Given the description of an element on the screen output the (x, y) to click on. 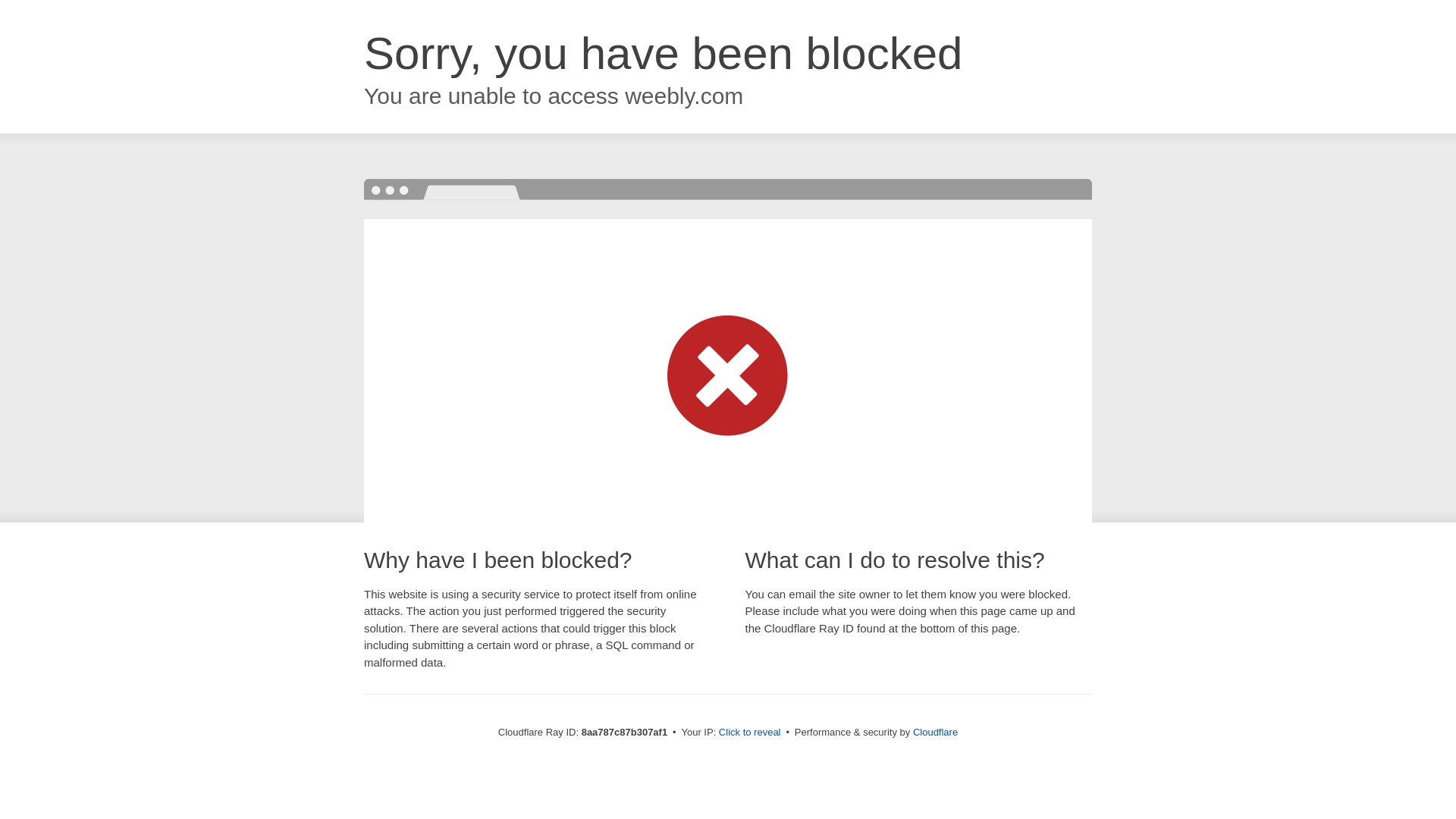
Cloudflare (935, 731)
Click to reveal (749, 732)
